Given the description of an element on the screen output the (x, y) to click on. 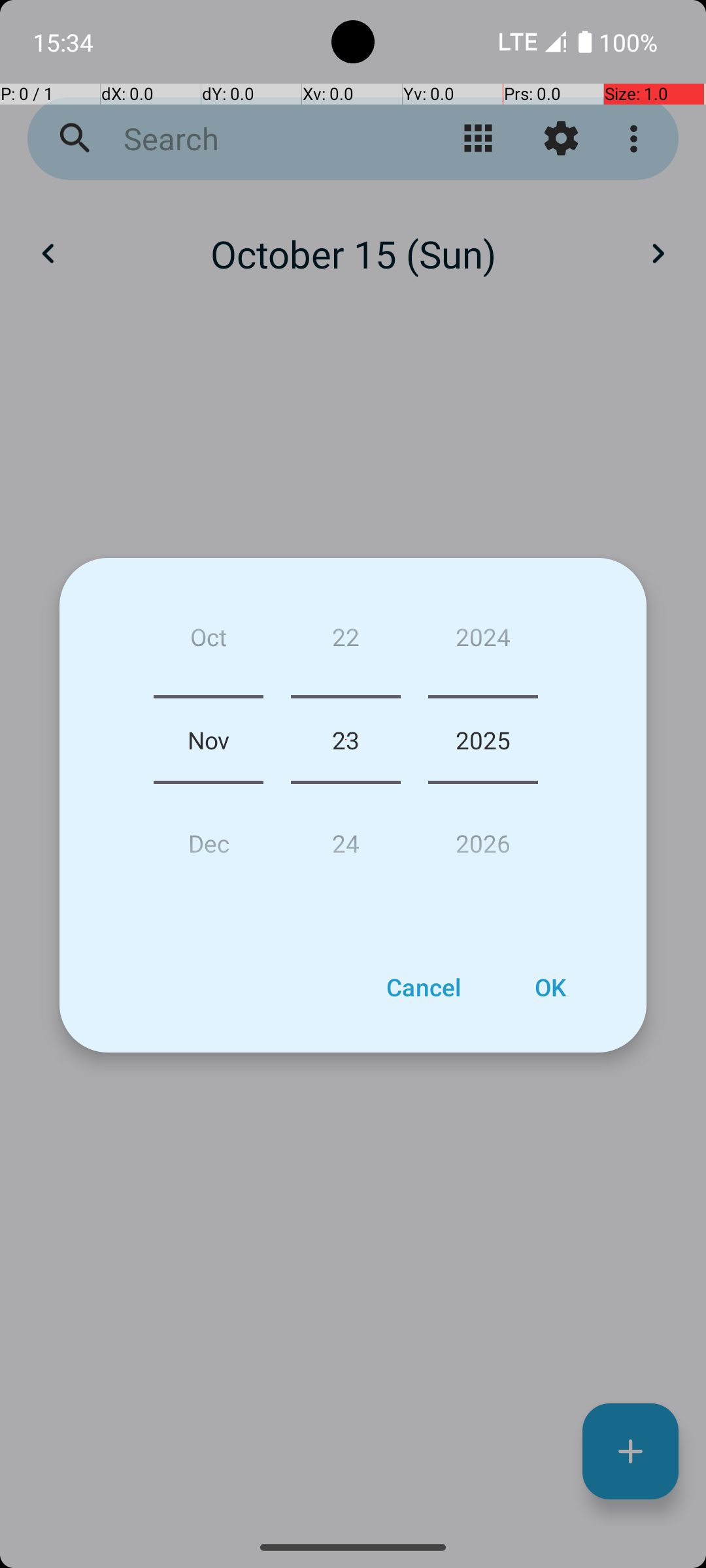
Dec Element type: android.widget.Button (208, 837)
